Given the description of an element on the screen output the (x, y) to click on. 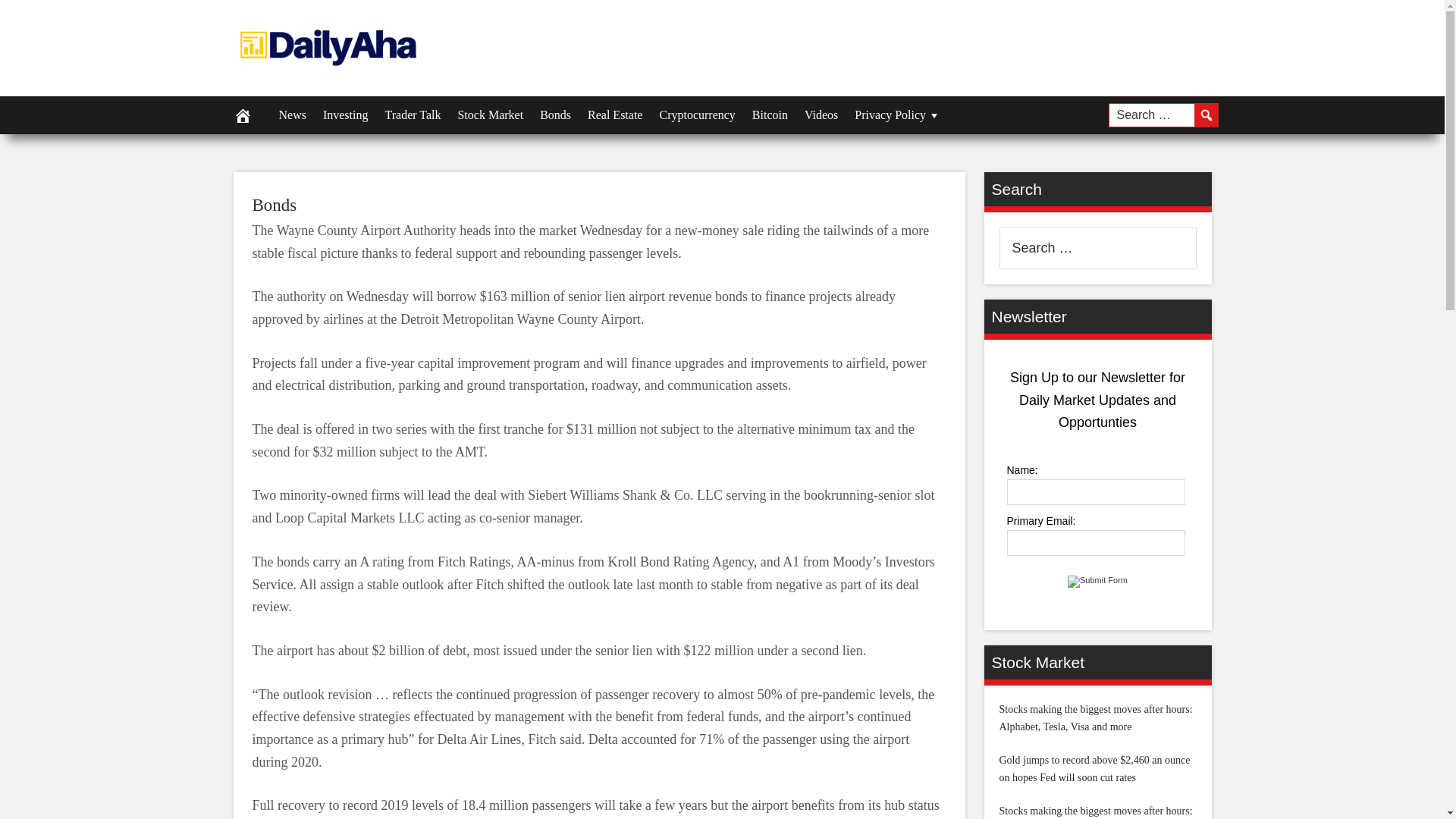
Bonds (555, 115)
Cryptocurrency (696, 115)
Privacy Policy (897, 115)
Trader Talk (411, 115)
Bonds (274, 204)
Investing (345, 115)
Bonds (274, 204)
Videos (820, 115)
News (291, 115)
Bitcoin (770, 115)
Stock Market (489, 115)
Real Estate (614, 115)
